Given the description of an element on the screen output the (x, y) to click on. 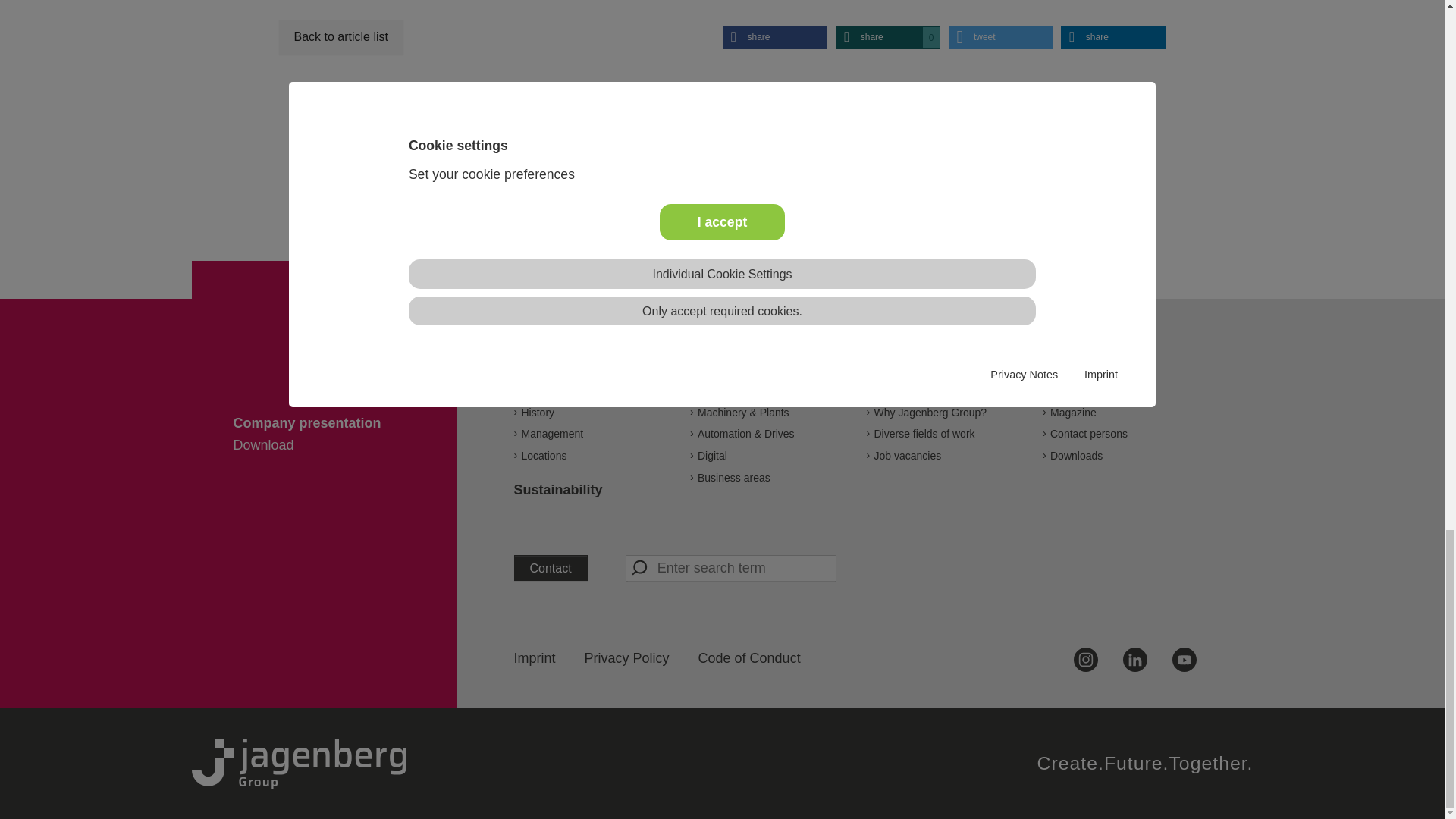
Send (639, 567)
